Given the description of an element on the screen output the (x, y) to click on. 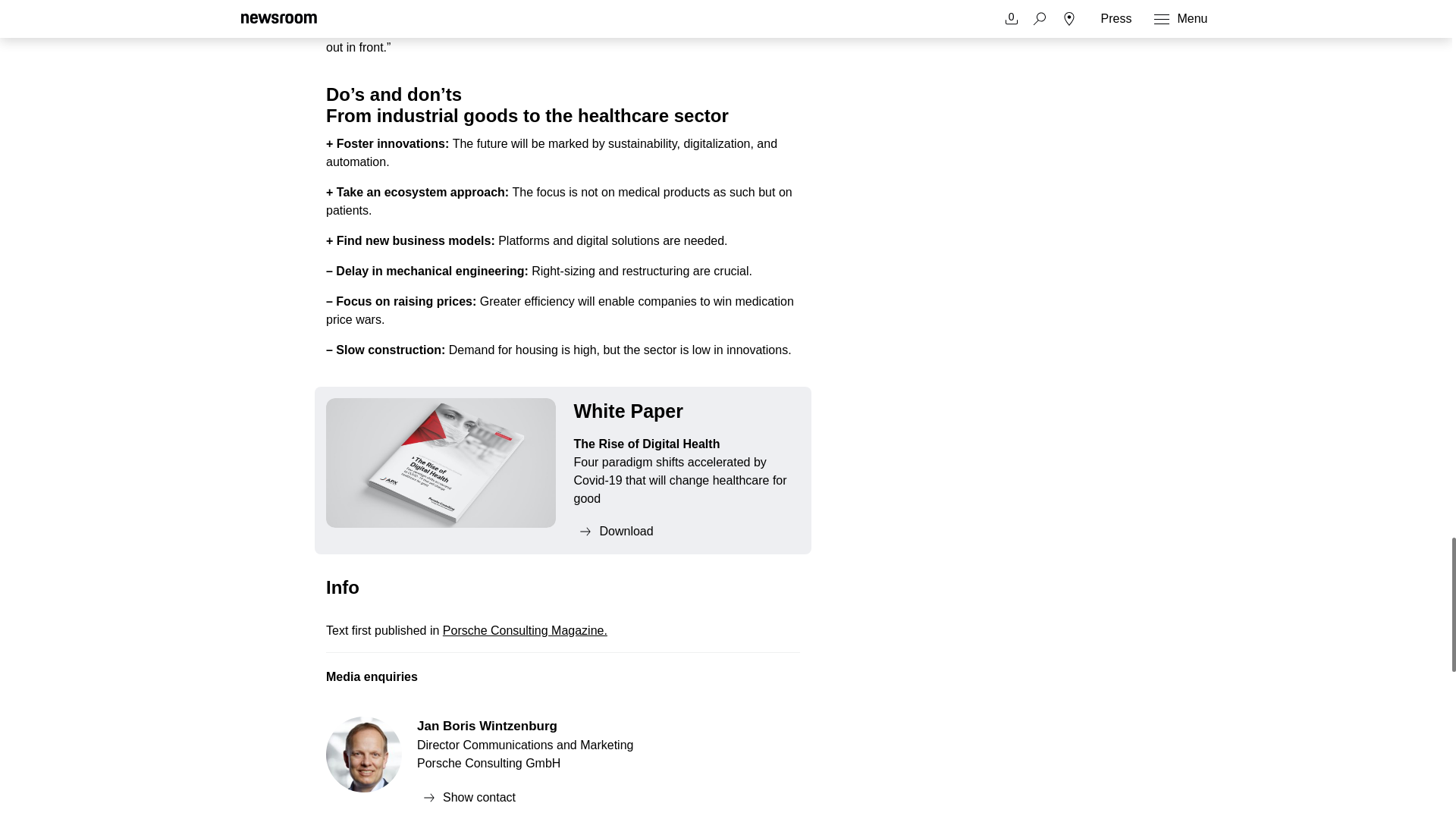
Media enquiries (562, 683)
